Given the description of an element on the screen output the (x, y) to click on. 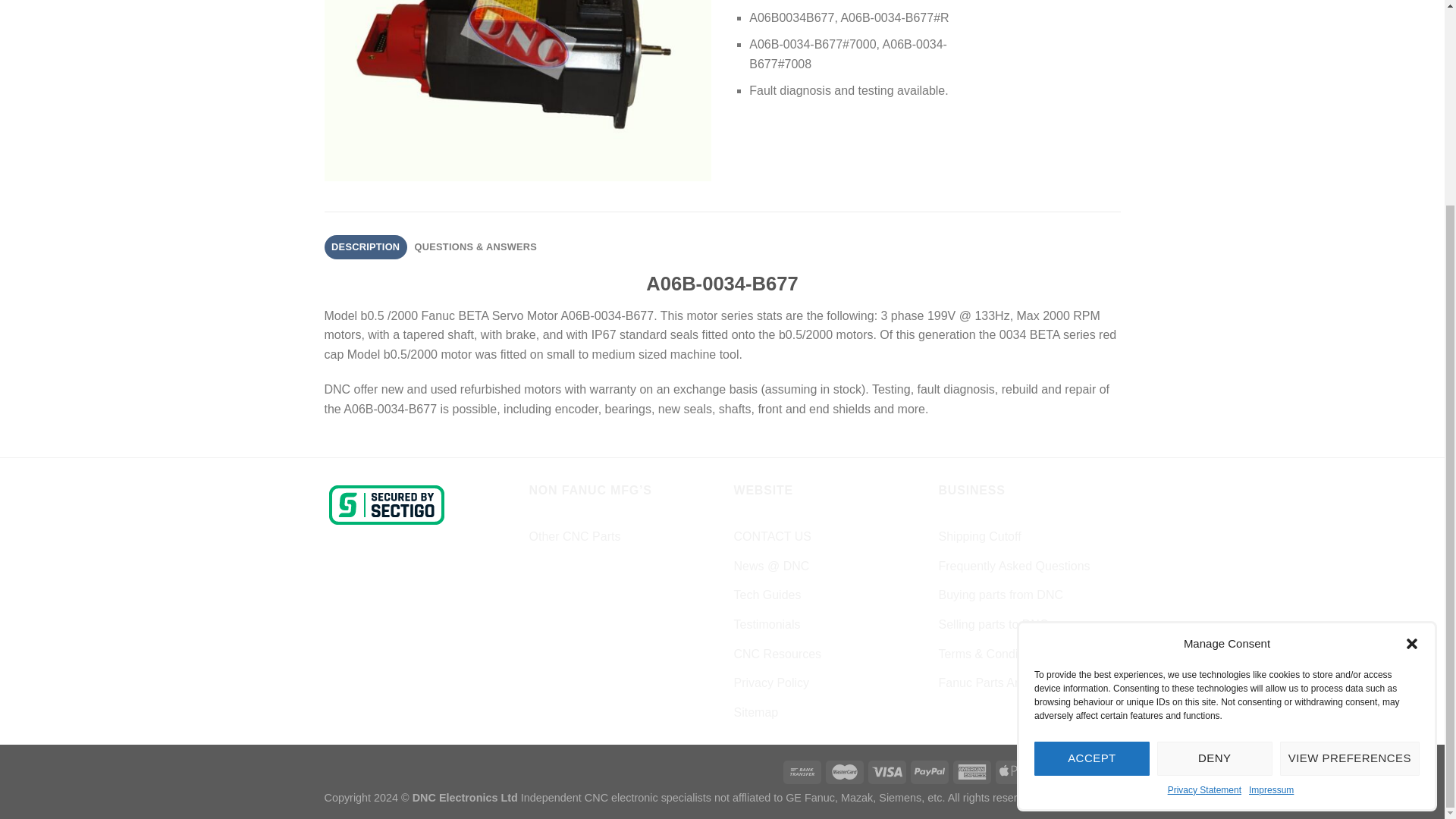
Impressum (1271, 526)
ACCEPT (1091, 494)
DENY (1214, 494)
Privacy Statement (1204, 526)
VIEW PREFERENCES (1349, 494)
